Given the description of an element on the screen output the (x, y) to click on. 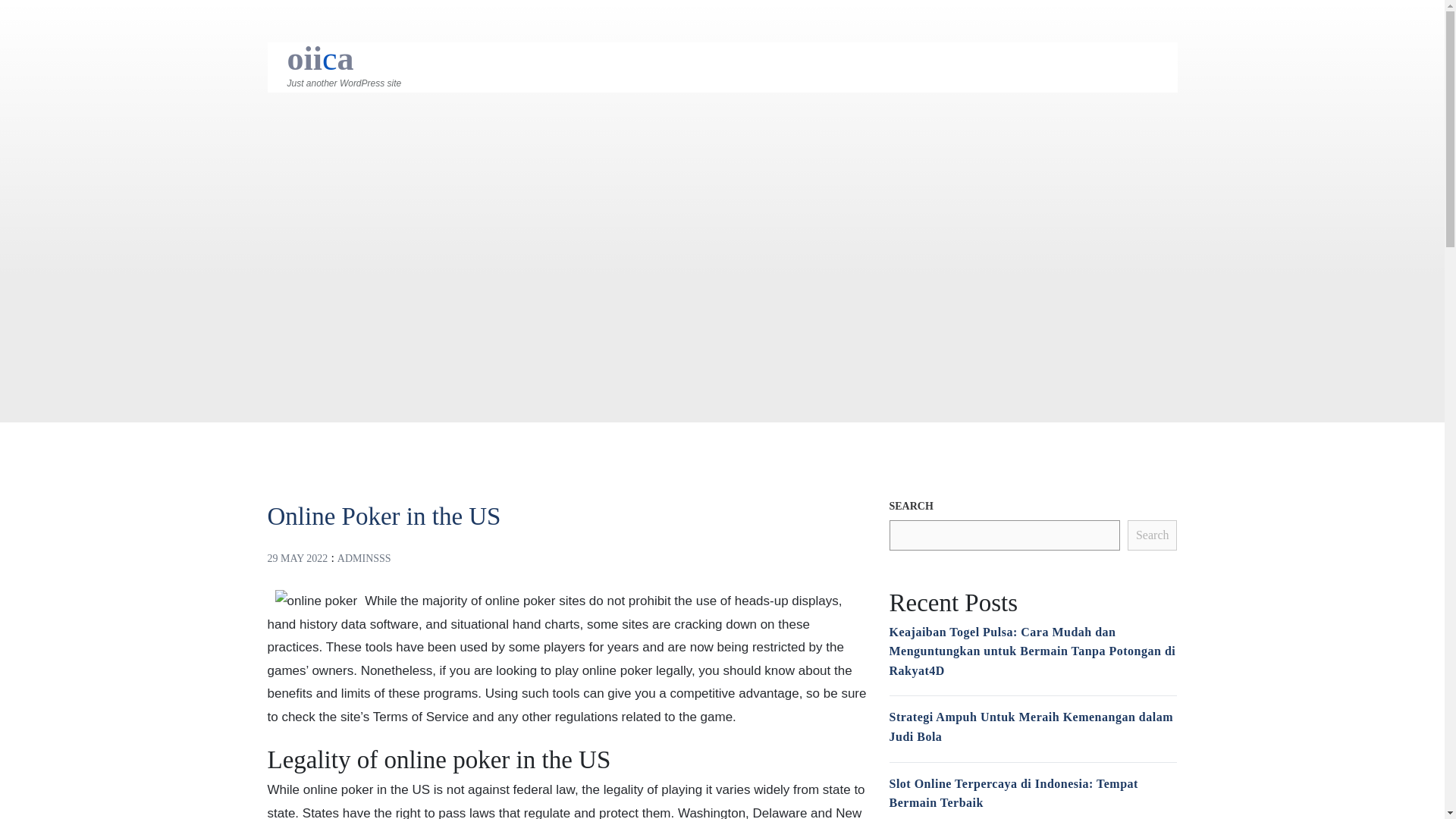
Search (1151, 535)
29 MAY 2022 (296, 558)
Slot Online Terpercaya di Indonesia: Tempat Bermain Terbaik (1012, 793)
ADMINSSS (364, 558)
oiica (319, 58)
Strategi Ampuh Untuk Meraih Kemenangan dalam Judi Bola (1030, 726)
